Given the description of an element on the screen output the (x, y) to click on. 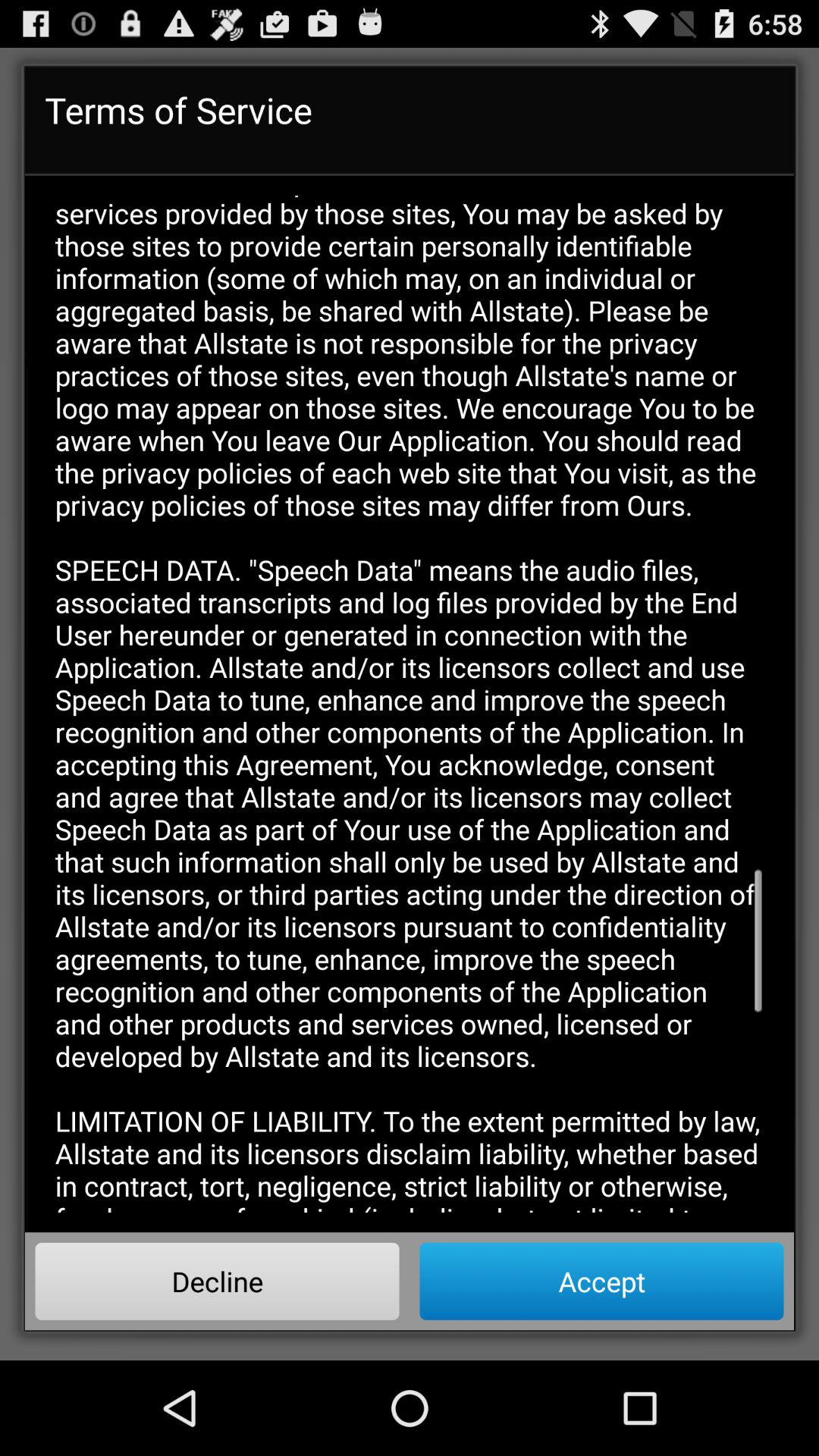
turn on the icon below last updated august app (601, 1281)
